Given the description of an element on the screen output the (x, y) to click on. 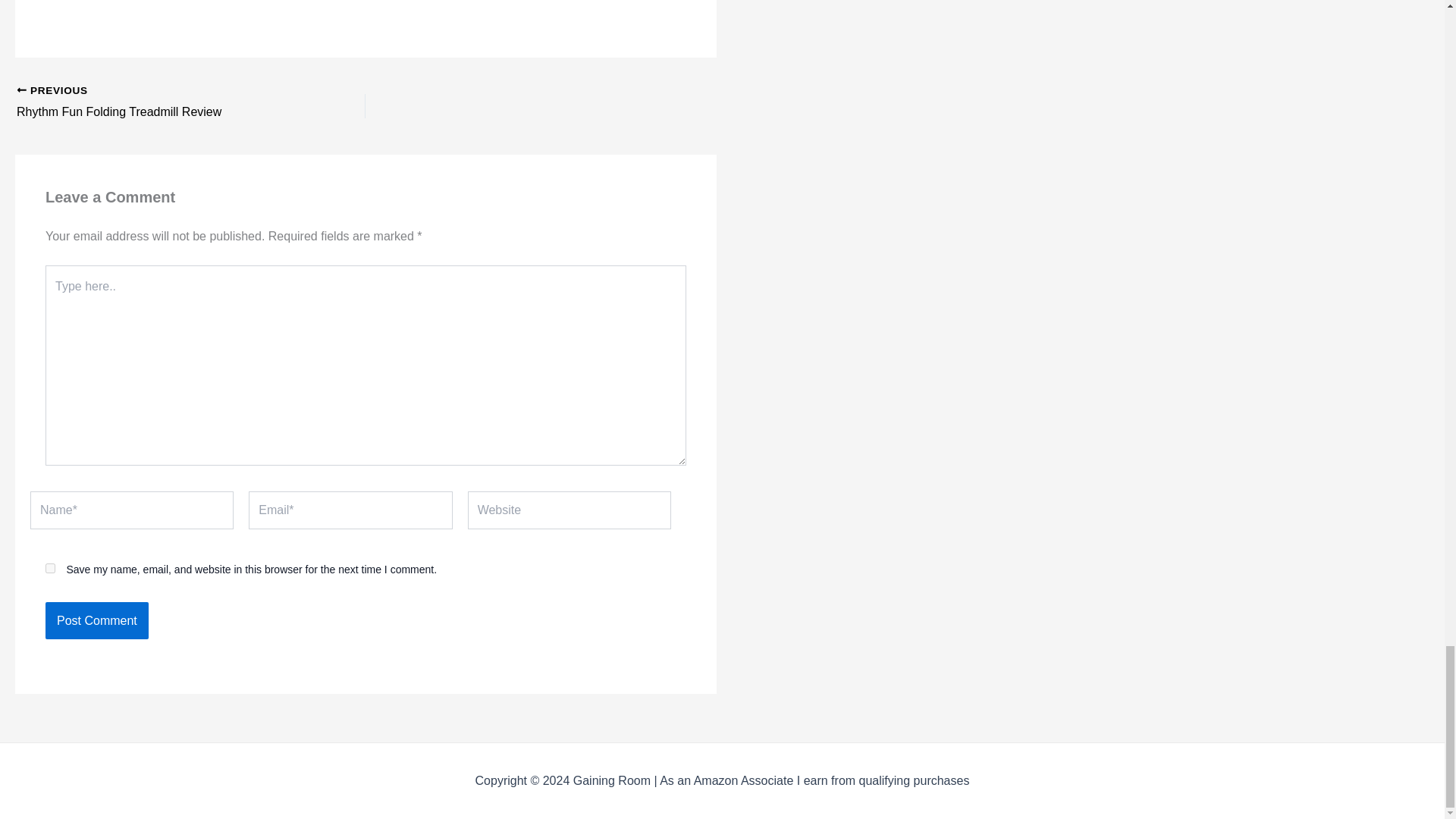
yes (50, 568)
Post Comment (96, 620)
Rhythm Fun Folding Treadmill Review (156, 102)
Post Comment (96, 620)
